Given the description of an element on the screen output the (x, y) to click on. 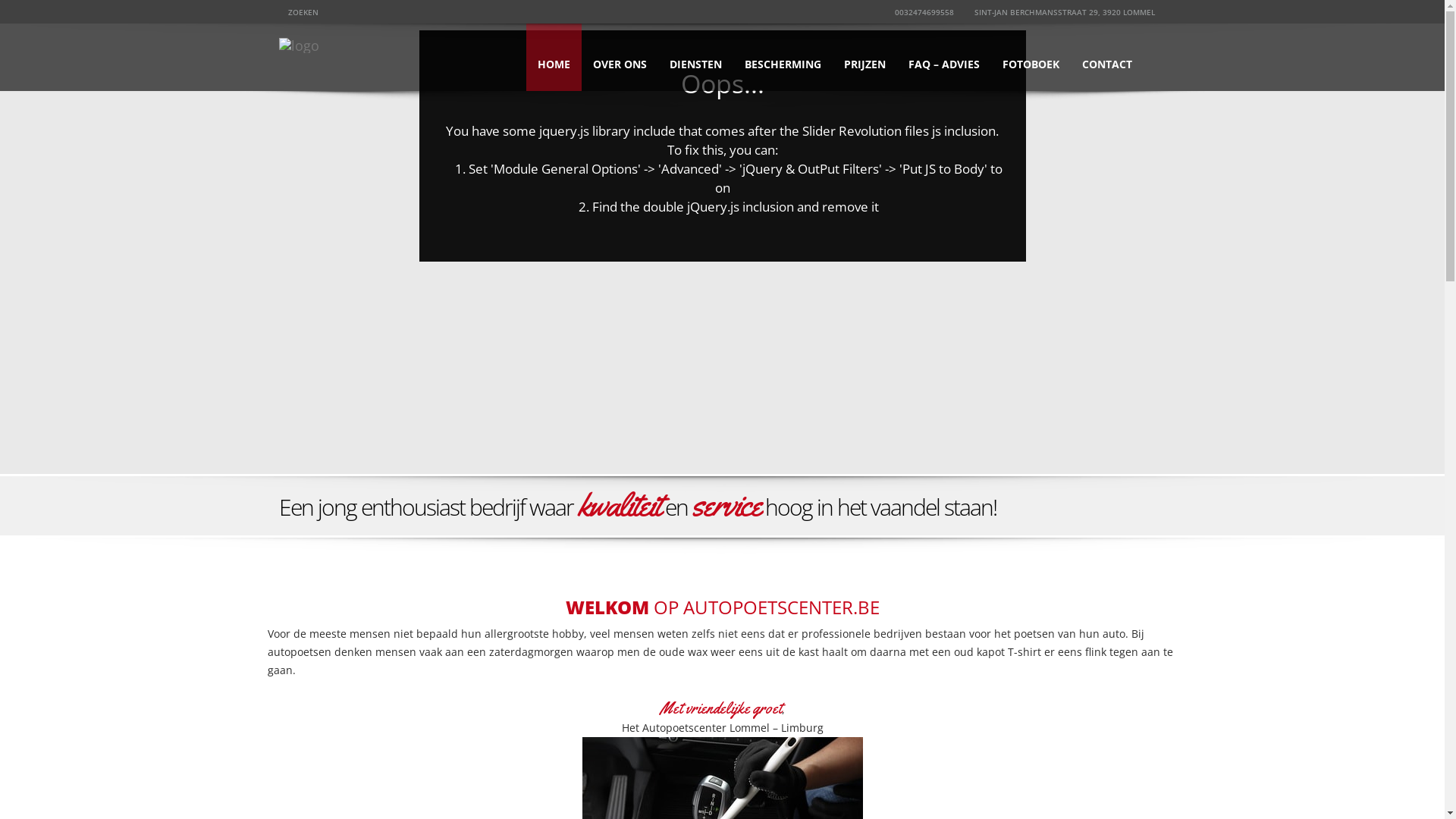
BESCHERMING Element type: text (781, 57)
HOME Element type: text (553, 57)
SINT-JAN BERCHMANSSTRAAT 29, 3920 LOMMEL Element type: text (1062, 11)
0032474699558 Element type: text (921, 11)
OVER ONS Element type: text (618, 57)
DIENSTEN Element type: text (695, 57)
FOTOBOEK Element type: text (1030, 57)
PRIJZEN Element type: text (864, 57)
CONTACT Element type: text (1106, 57)
